Given the description of an element on the screen output the (x, y) to click on. 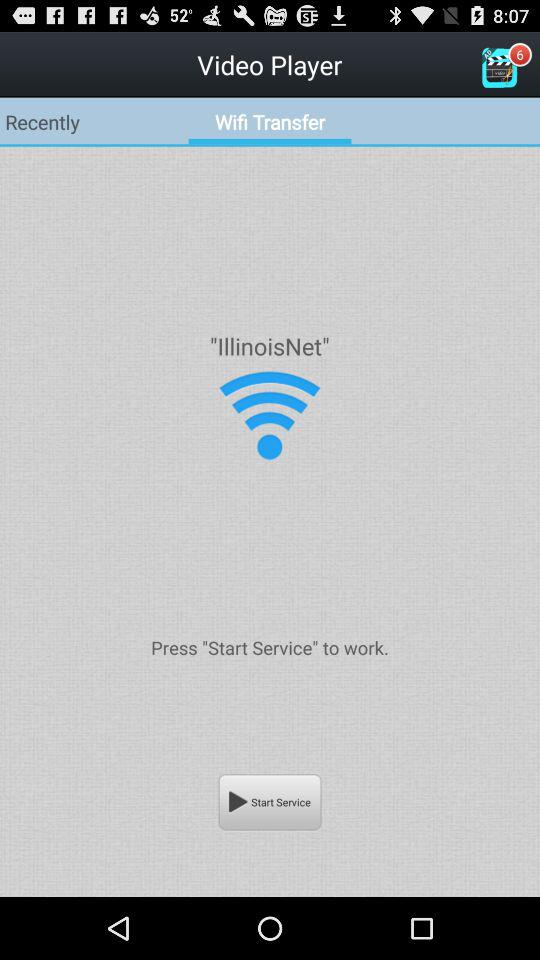
turn off icon above the press start service icon (269, 415)
